Given the description of an element on the screen output the (x, y) to click on. 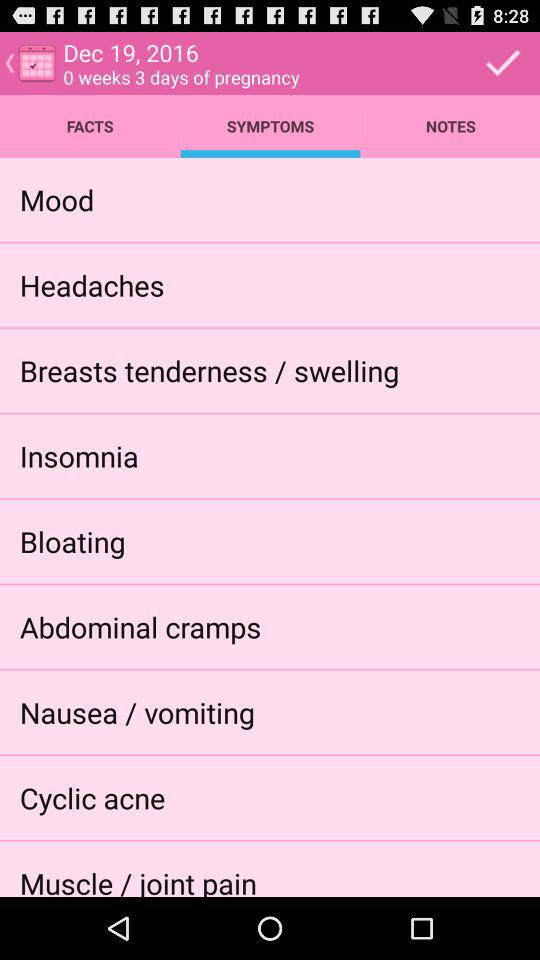
open the item below the mood item (91, 284)
